Given the description of an element on the screen output the (x, y) to click on. 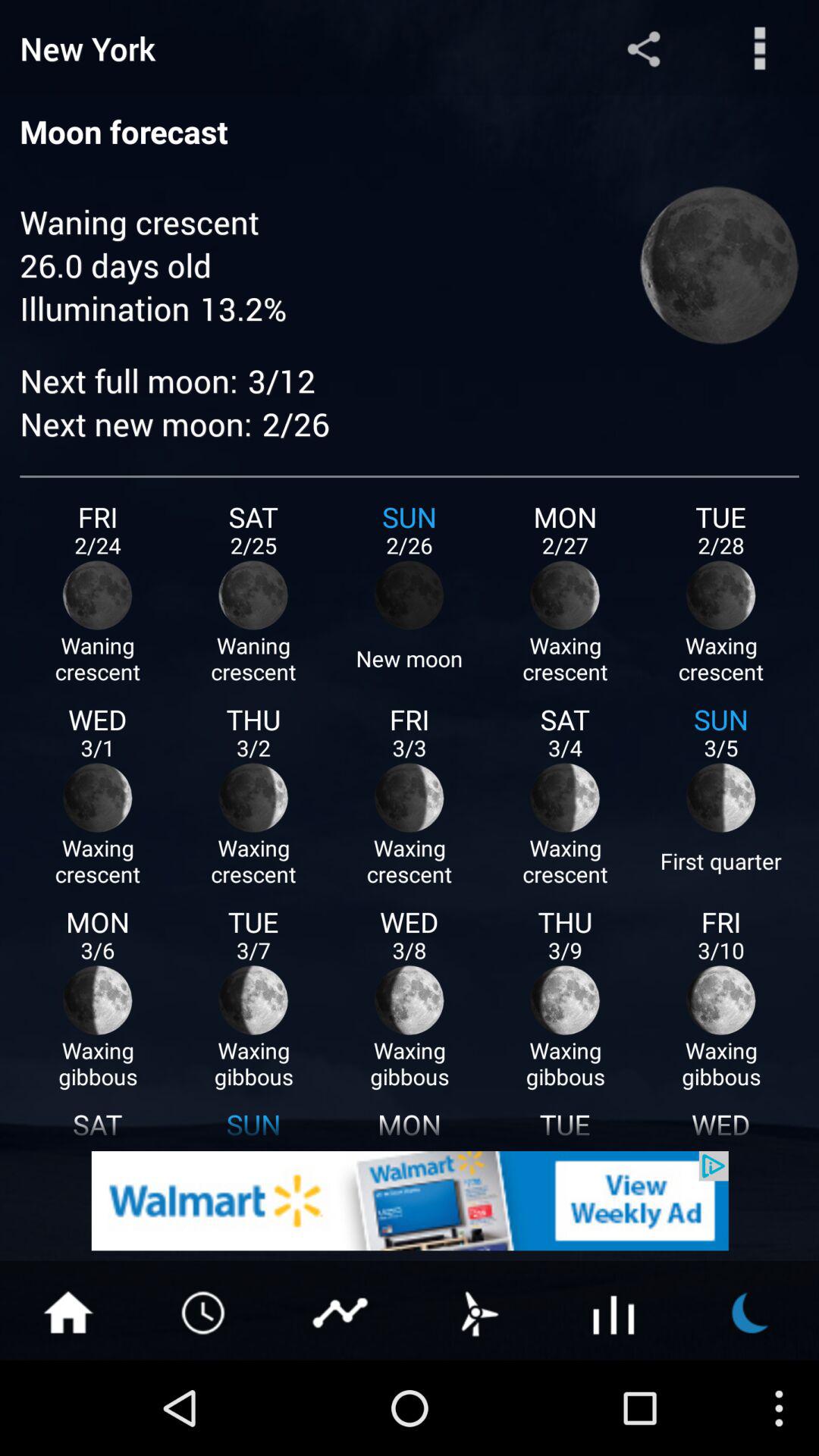
detaild 10-day forecast (614, 1311)
